Given the description of an element on the screen output the (x, y) to click on. 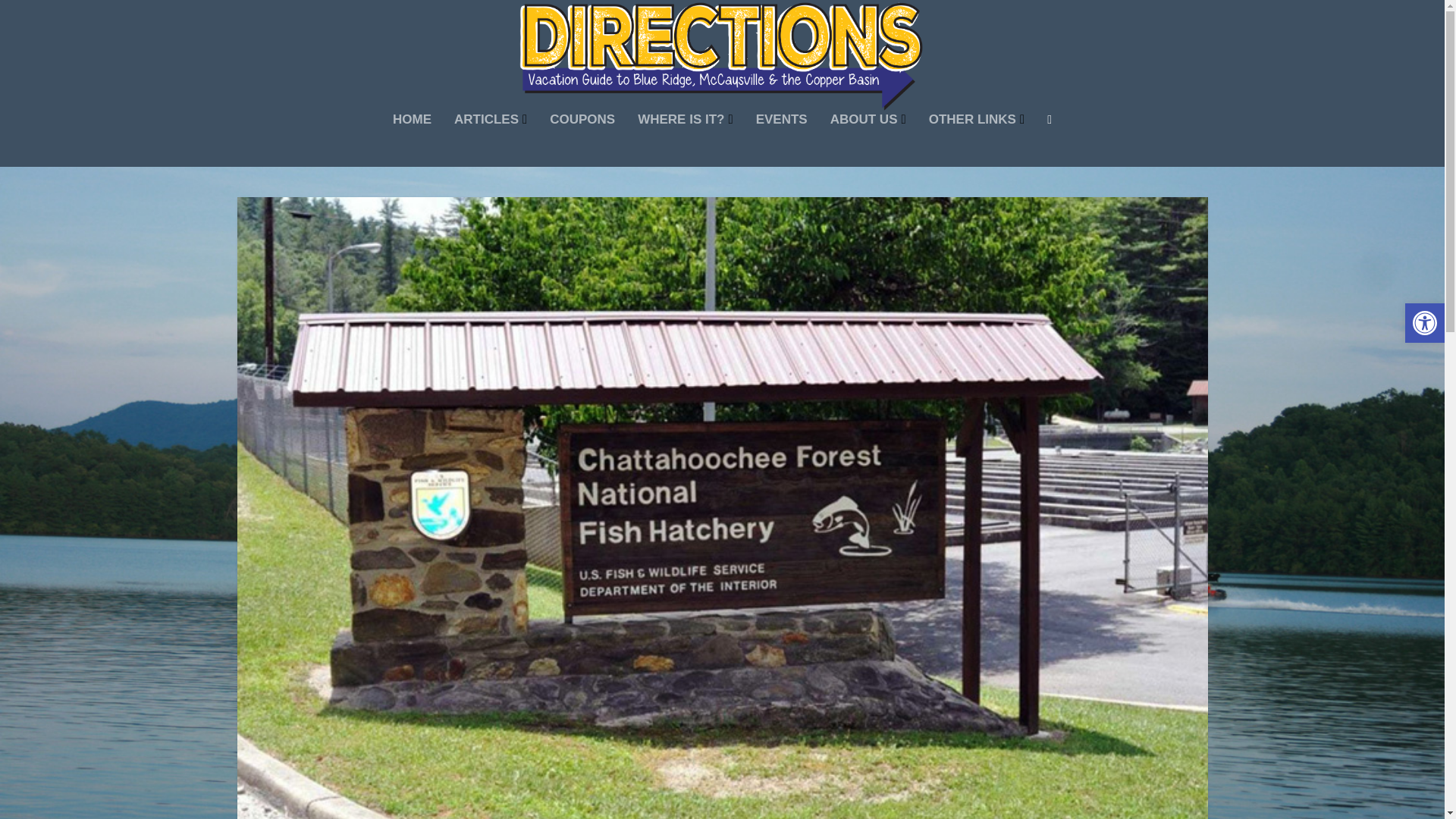
ABOUT US (867, 140)
Accessibility Tools (1424, 322)
WHERE IS IT? (685, 140)
OTHER LINKS (976, 140)
ARTICLES (490, 140)
COUPONS (582, 140)
EVENTS (781, 140)
